Given the description of an element on the screen output the (x, y) to click on. 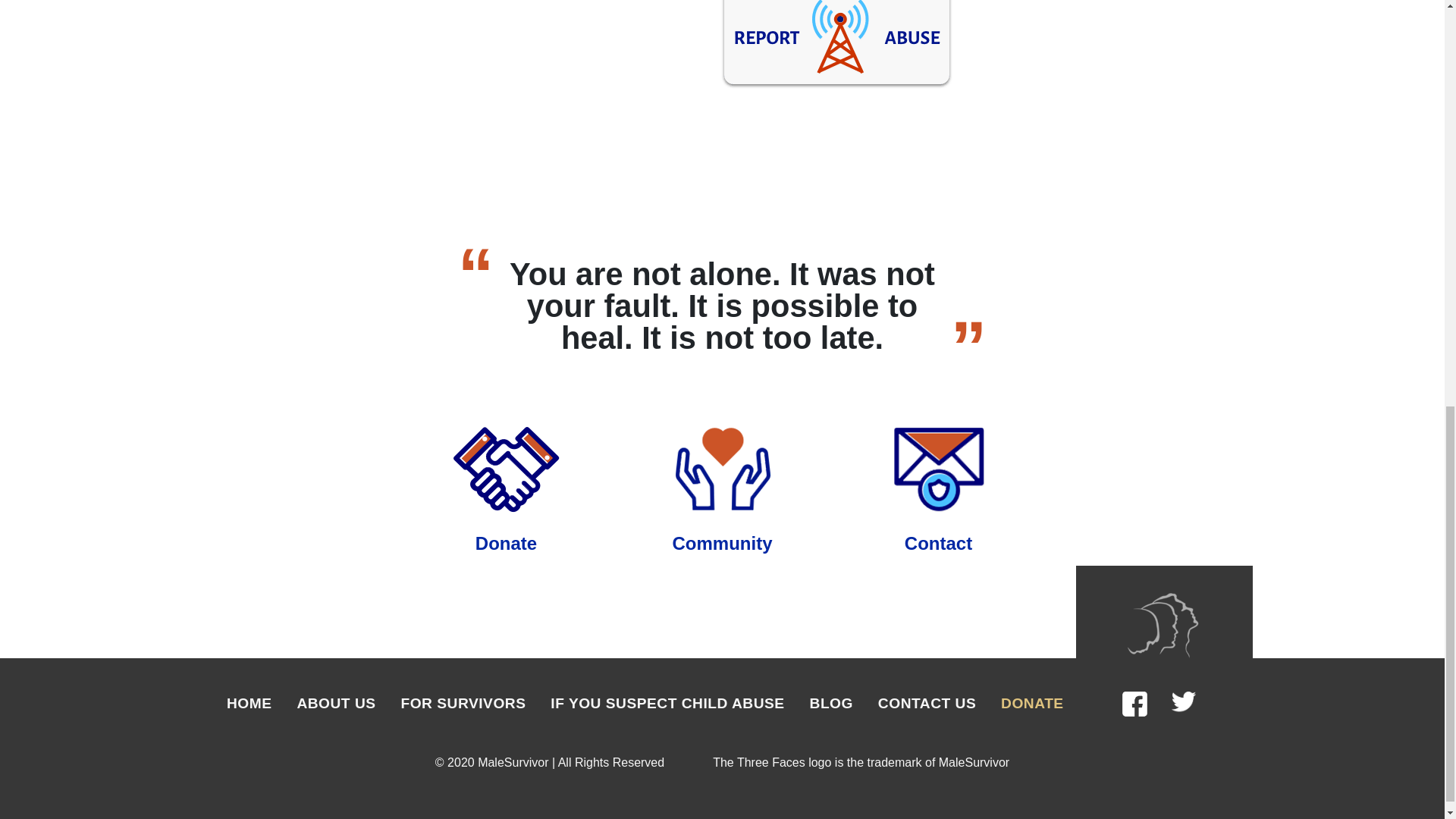
Donate (506, 543)
Contact (938, 543)
HOME (249, 702)
Community (721, 543)
